Given the description of an element on the screen output the (x, y) to click on. 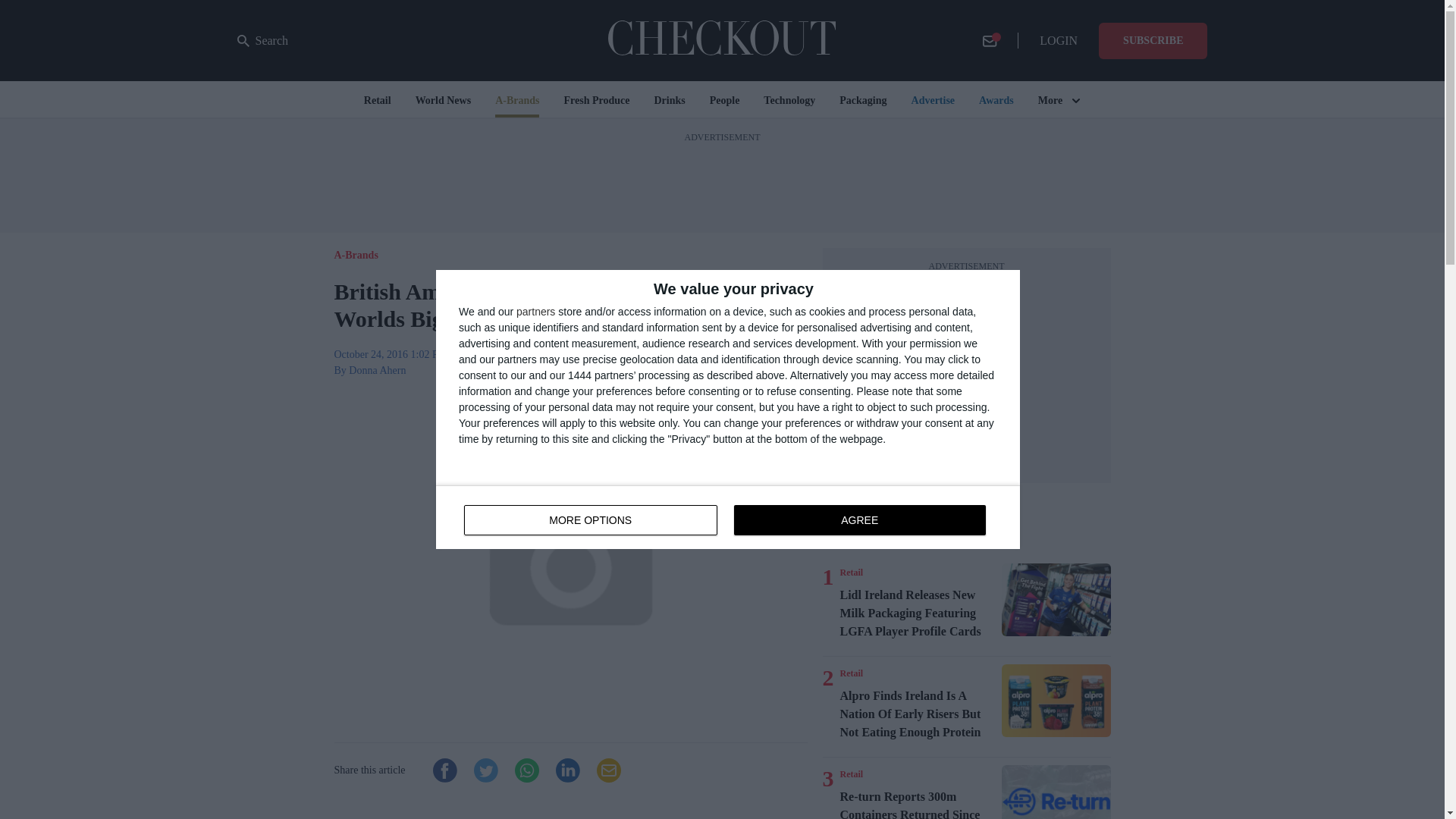
Search (727, 516)
Retail (261, 40)
Retail (851, 673)
